Given the description of an element on the screen output the (x, y) to click on. 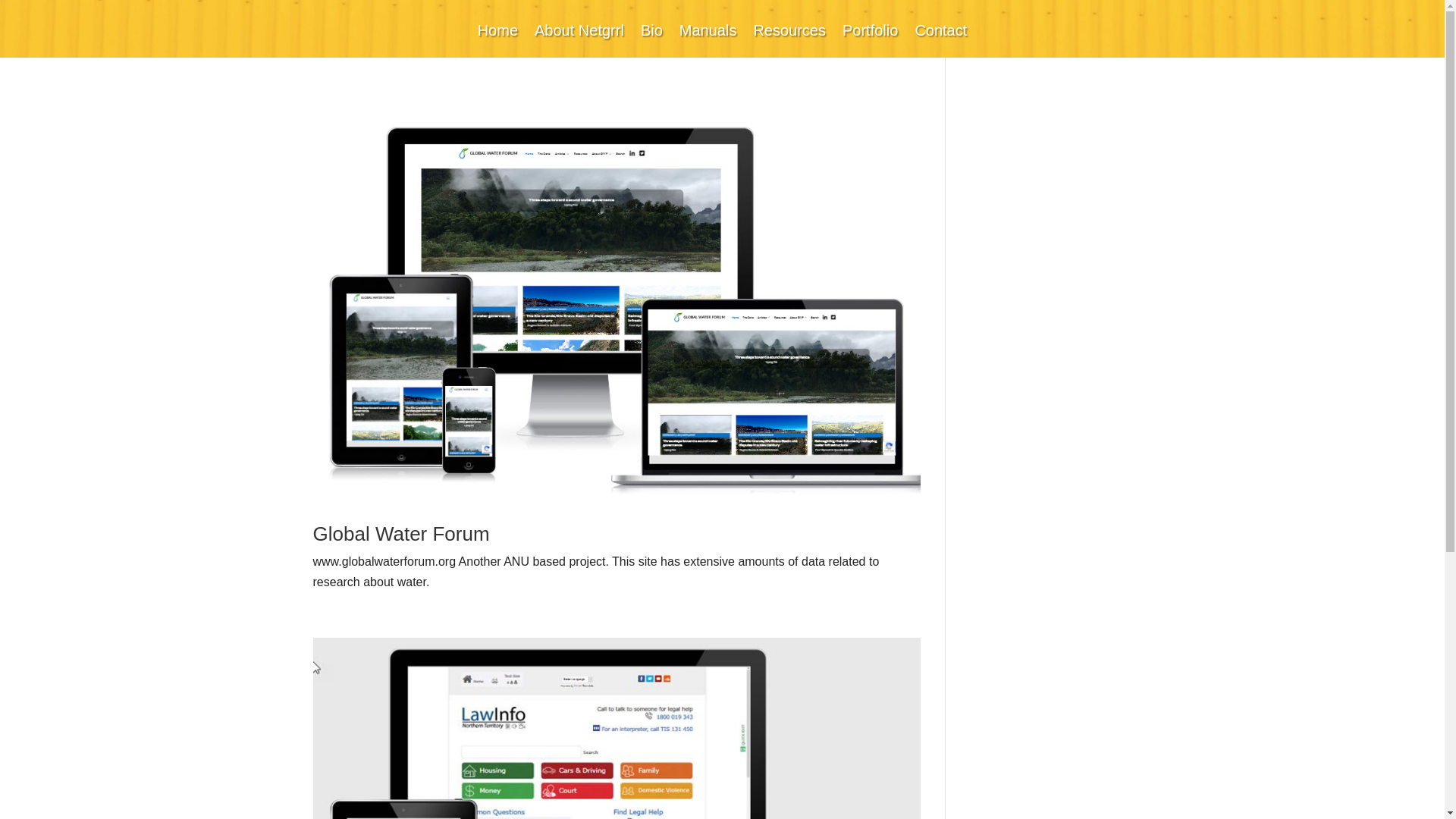
Contact Element type: text (940, 41)
Home Element type: text (497, 41)
Portfolio Element type: text (869, 41)
About Netgrrl Element type: text (579, 41)
Resources Element type: text (789, 41)
Bio Element type: text (651, 41)
Manuals Element type: text (708, 41)
Global Water Forum Element type: text (400, 533)
